Given the description of an element on the screen output the (x, y) to click on. 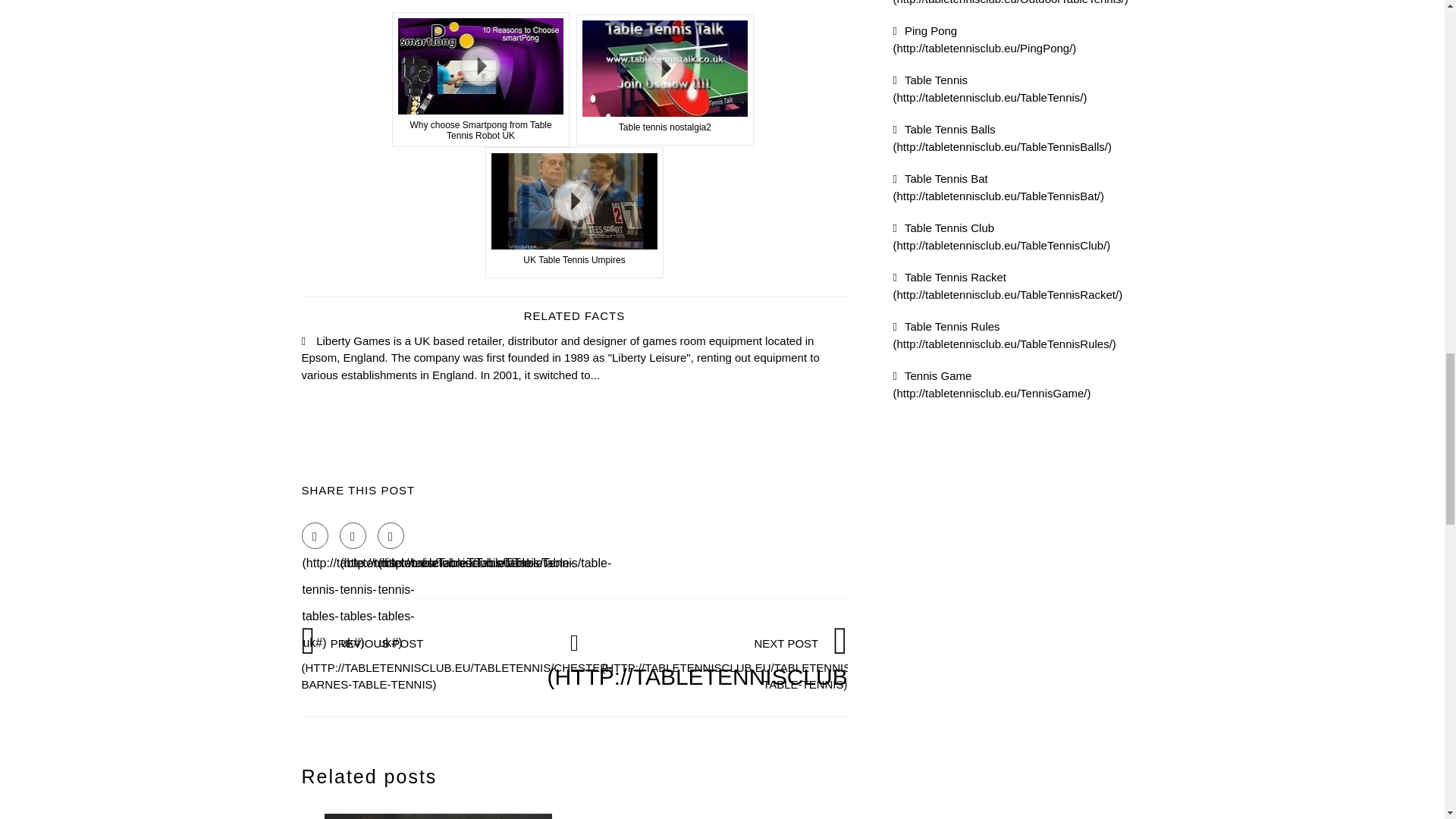
Facebook (315, 535)
View all posts filed under Table Tennis Balls (1002, 137)
View all posts filed under Table Tennis Bat (999, 186)
View this video from YouTube (665, 79)
View all posts filed under Outdoor Table Tennis (1010, 2)
NEXT POST (758, 663)
PREVIOUS POST (456, 663)
Google Plus (390, 535)
View all posts filed under Ping Pong (985, 39)
View this video from YouTube (573, 212)
View all posts filed under Table Tennis (990, 88)
Twitter (352, 535)
View this video from YouTube (480, 79)
